Given the description of an element on the screen output the (x, y) to click on. 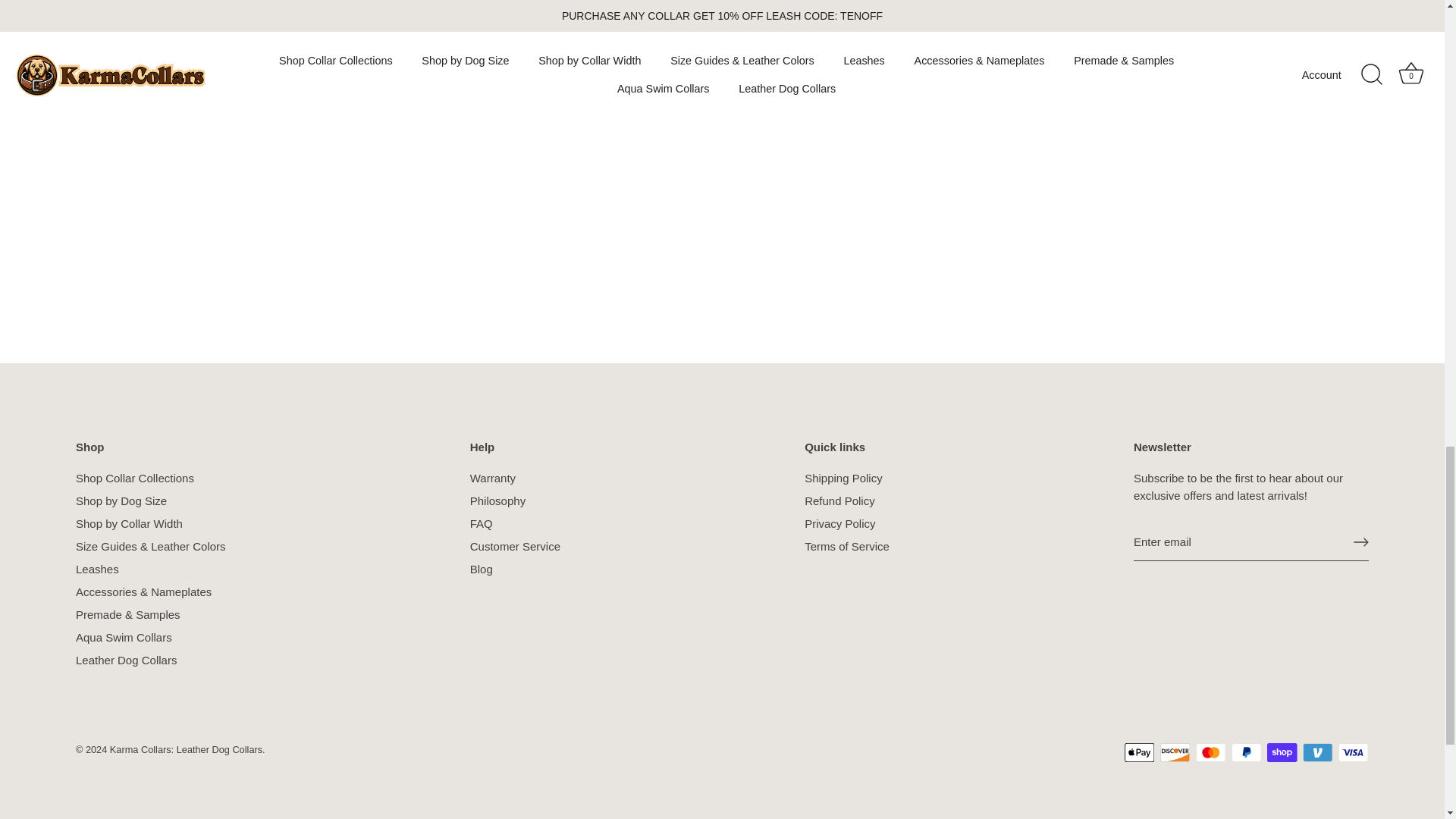
Apple Pay (1139, 752)
Mastercard (1210, 752)
Visa (1353, 752)
Venmo (1317, 752)
Discover (1174, 752)
Shop Pay (1281, 752)
PayPal (1245, 752)
Right arrow long (1361, 541)
